Given the description of an element on the screen output the (x, y) to click on. 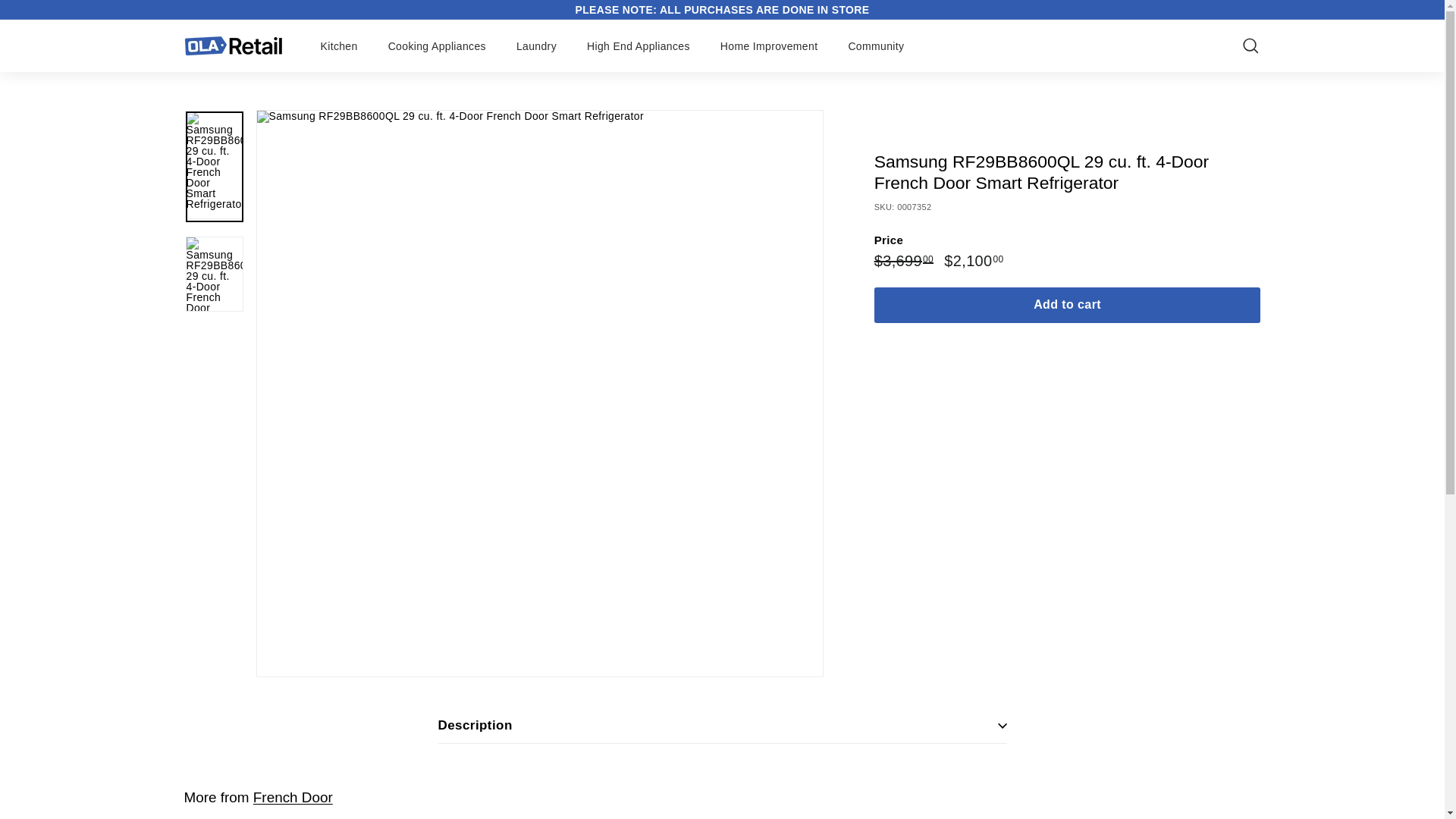
Kitchen (338, 45)
Laundry (536, 45)
Home Improvement (768, 45)
Community (875, 45)
High End Appliances (638, 45)
Cooking Appliances (436, 45)
